Given the description of an element on the screen output the (x, y) to click on. 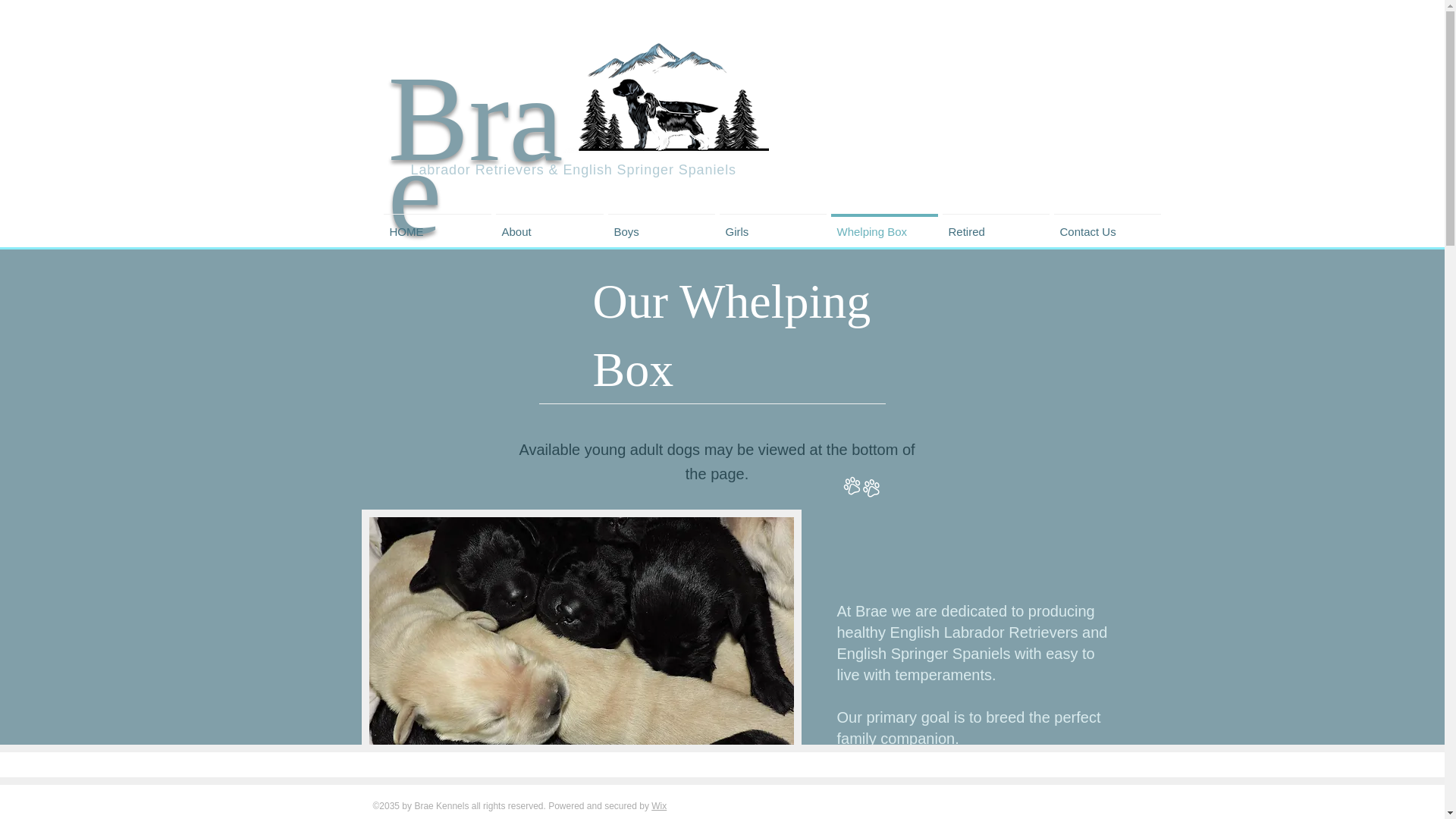
Contact Us (1106, 224)
Wix (658, 805)
Whelping Box (883, 224)
Retired (995, 224)
HOME (436, 224)
About (549, 224)
Girls (772, 224)
Boys (660, 224)
